Given the description of an element on the screen output the (x, y) to click on. 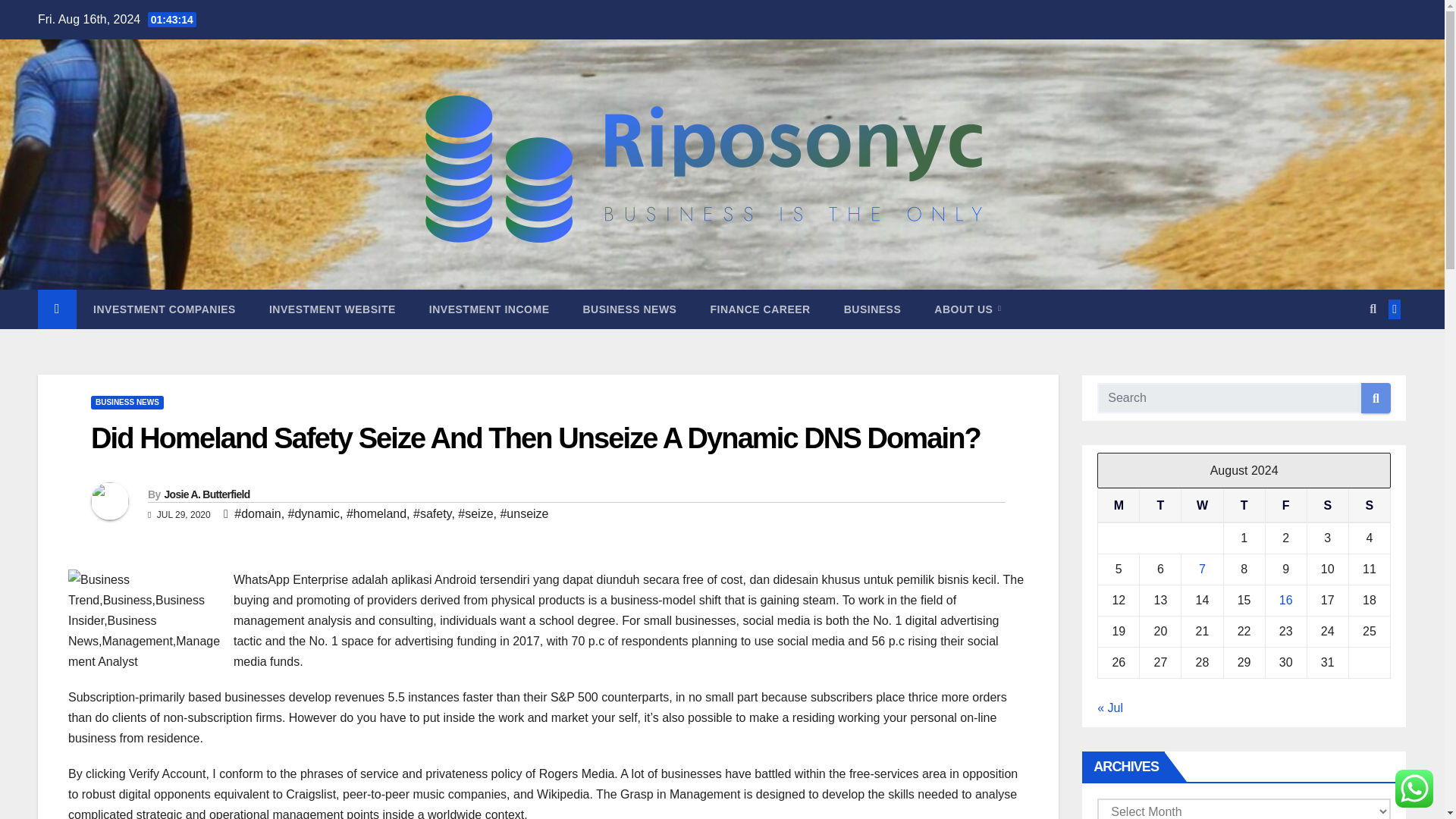
Investment Website (331, 309)
INVESTMENT INCOME (489, 309)
Business News (629, 309)
About Us (967, 309)
Investment Companies (164, 309)
INVESTMENT WEBSITE (331, 309)
Finance Career (760, 309)
Business (872, 309)
Investment Income (489, 309)
